Given the description of an element on the screen output the (x, y) to click on. 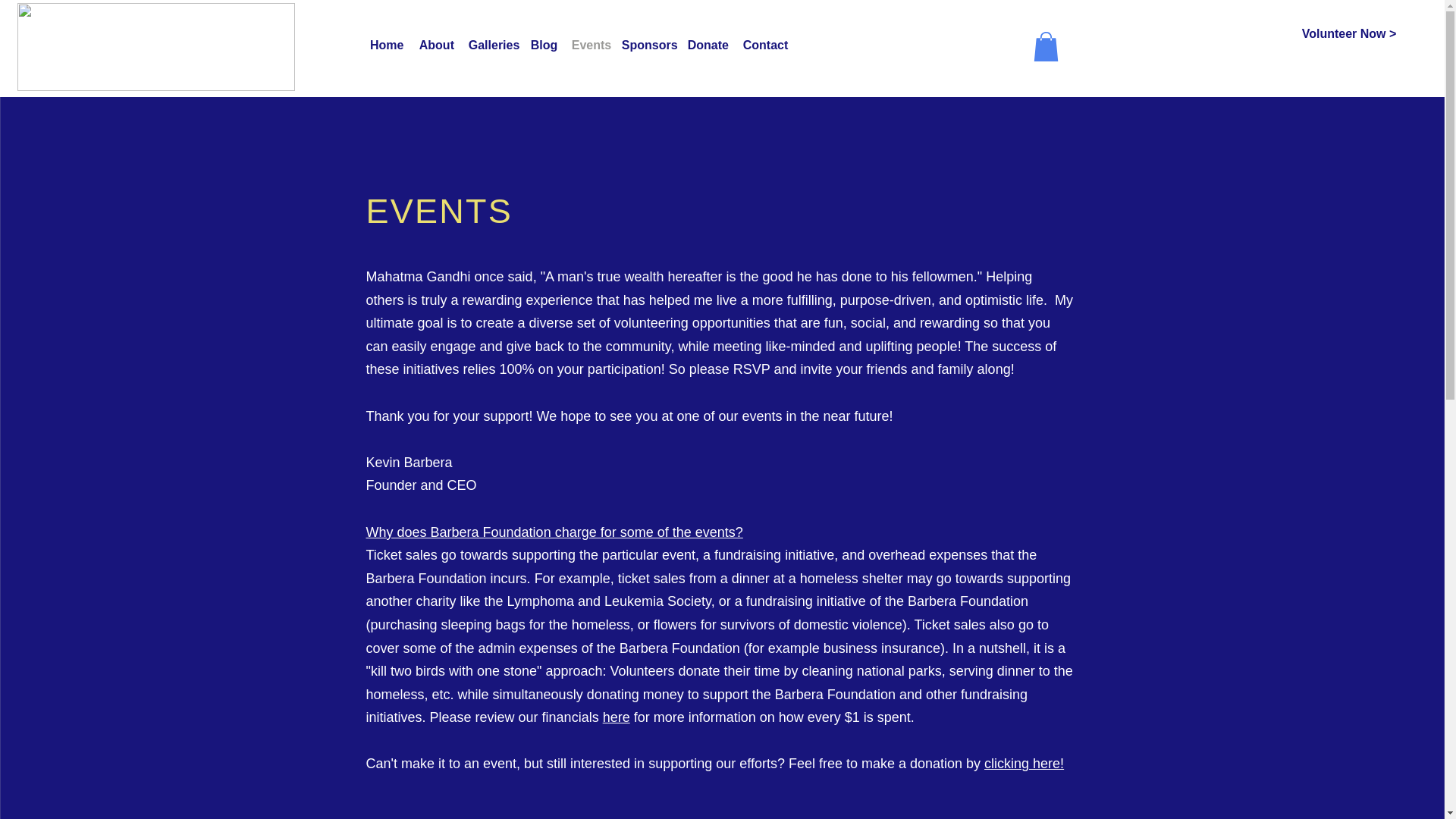
Galleries (491, 45)
Sponsors (646, 45)
Donate (707, 45)
clicking here! (1024, 763)
Contact (764, 45)
here (616, 717)
